Given the description of an element on the screen output the (x, y) to click on. 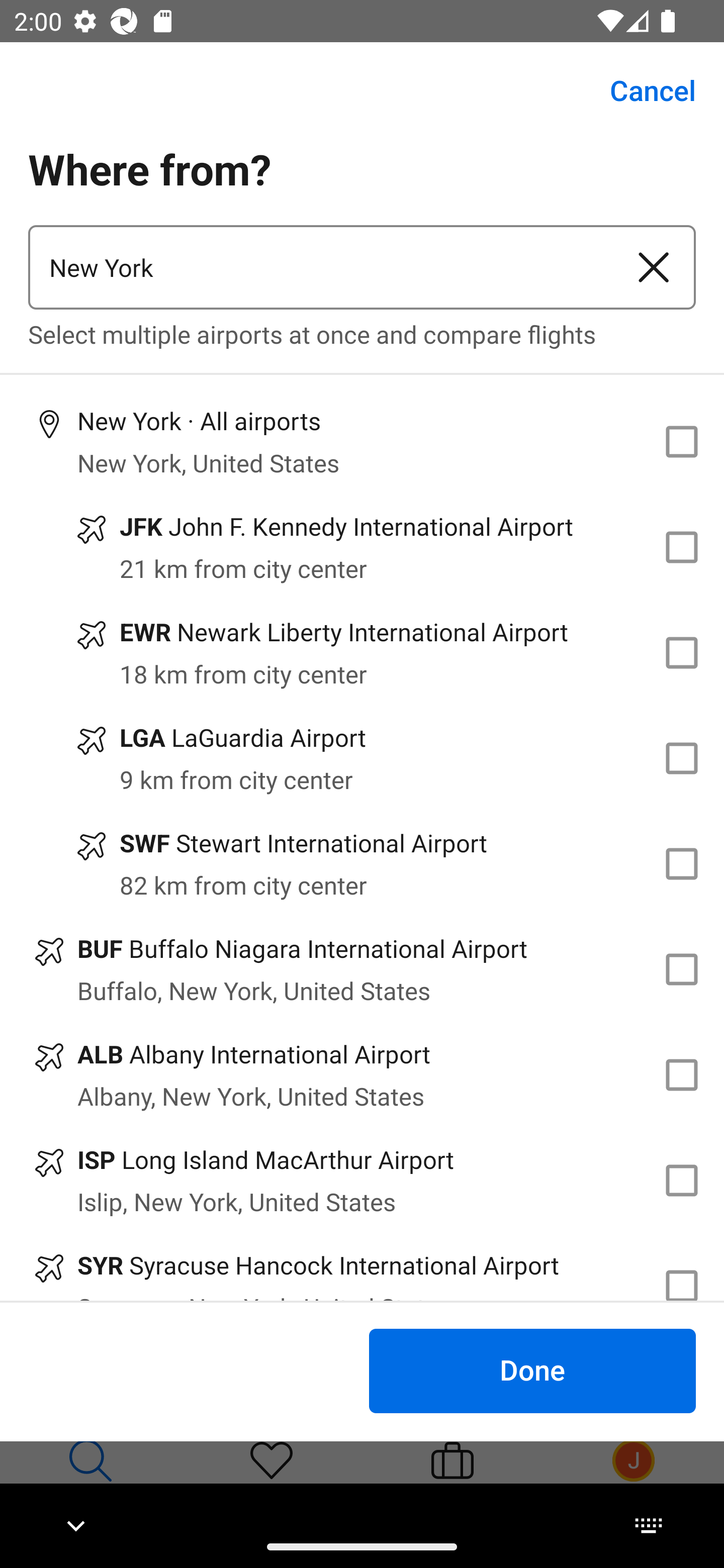
Cancel (641, 90)
New York (319, 266)
Clear airport or city (653, 266)
New York · All airports New York, United States (362, 440)
LGA LaGuardia Airport 9 km from city center (362, 757)
Done (532, 1370)
